Given the description of an element on the screen output the (x, y) to click on. 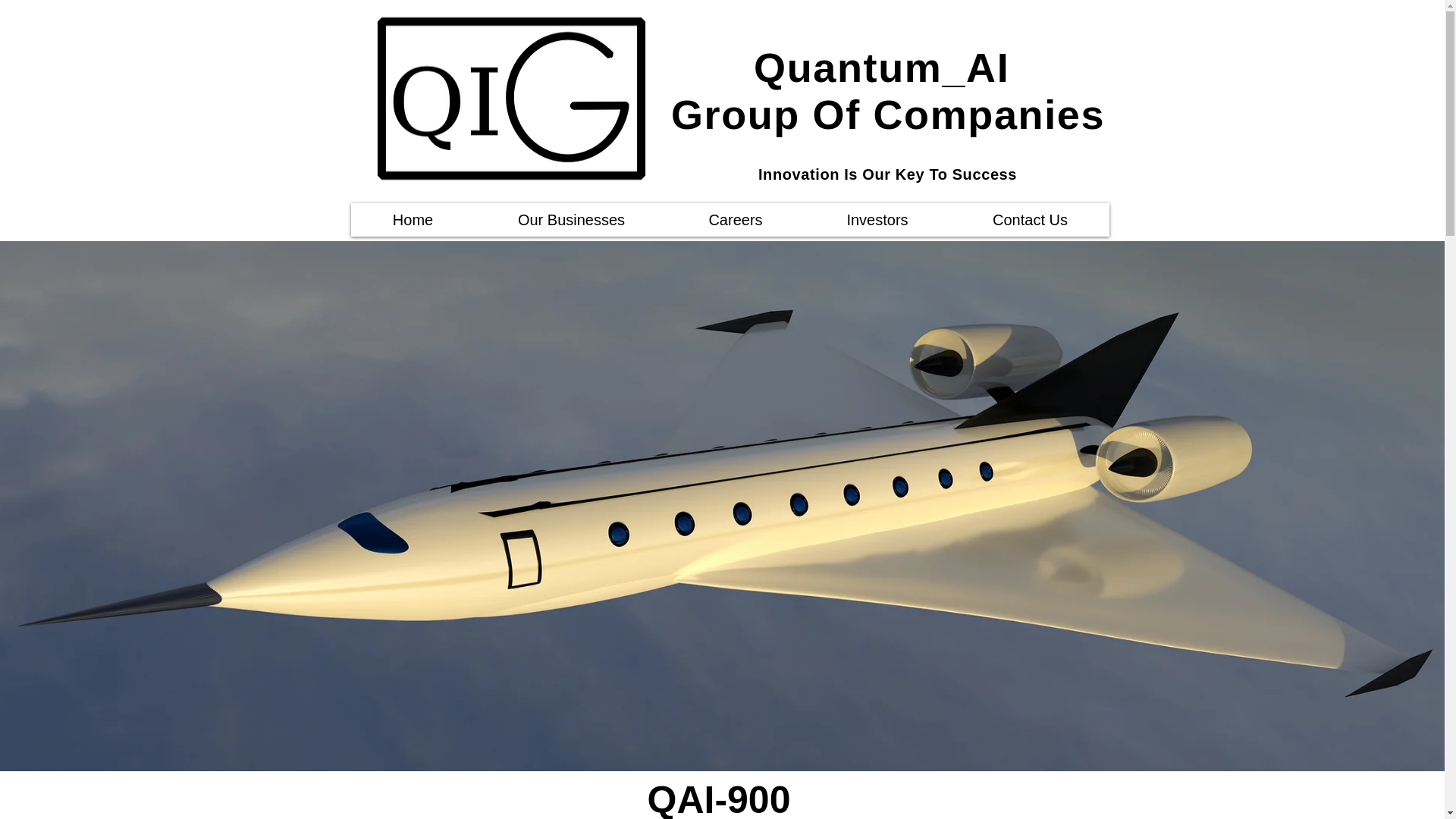
Our Businesses (570, 219)
Home (412, 219)
Careers (734, 219)
Contact Us (1029, 219)
Investors (876, 219)
